Given the description of an element on the screen output the (x, y) to click on. 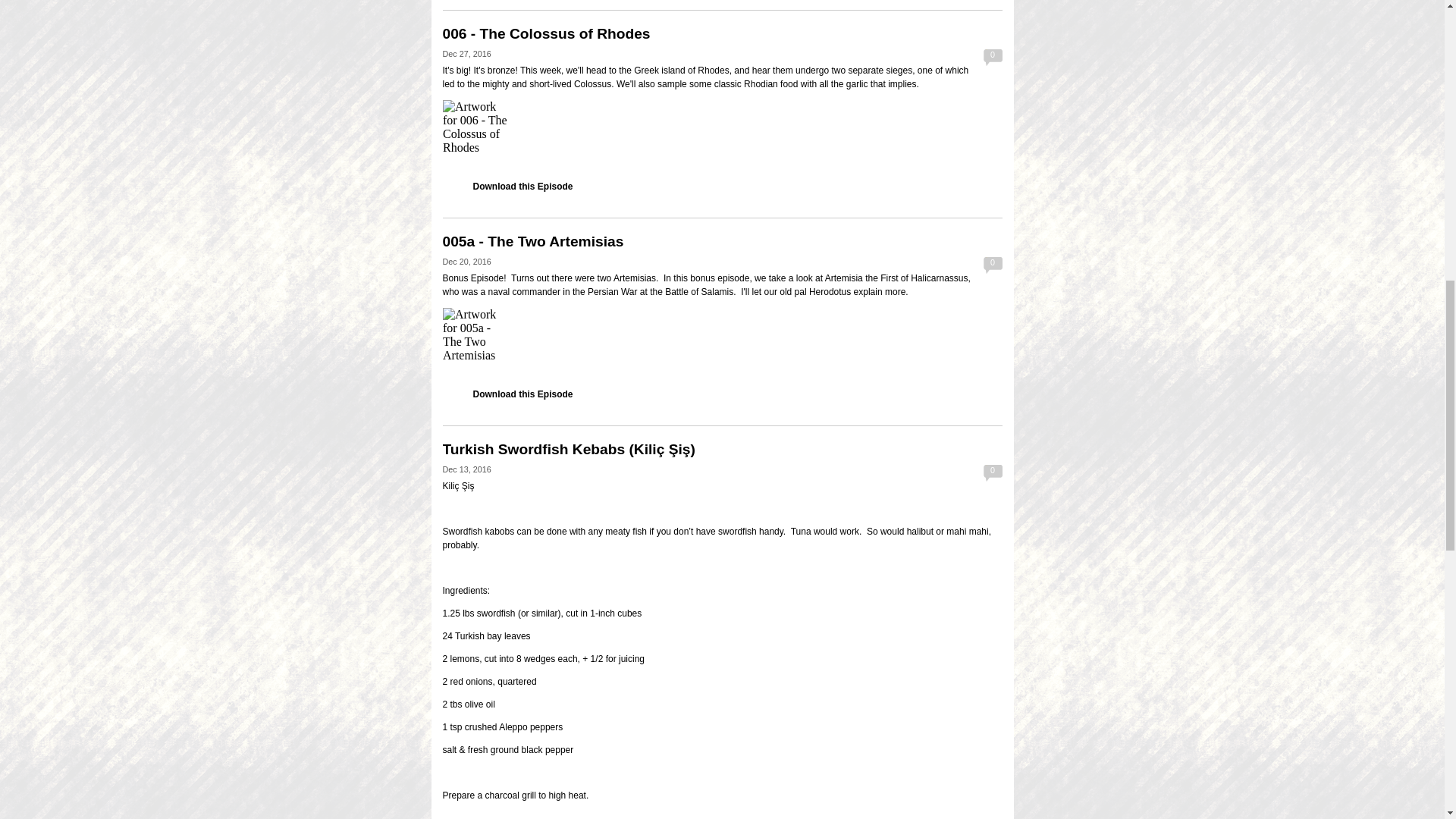
Libsyn Player (722, 133)
Libsyn Player (722, 341)
